Given the description of an element on the screen output the (x, y) to click on. 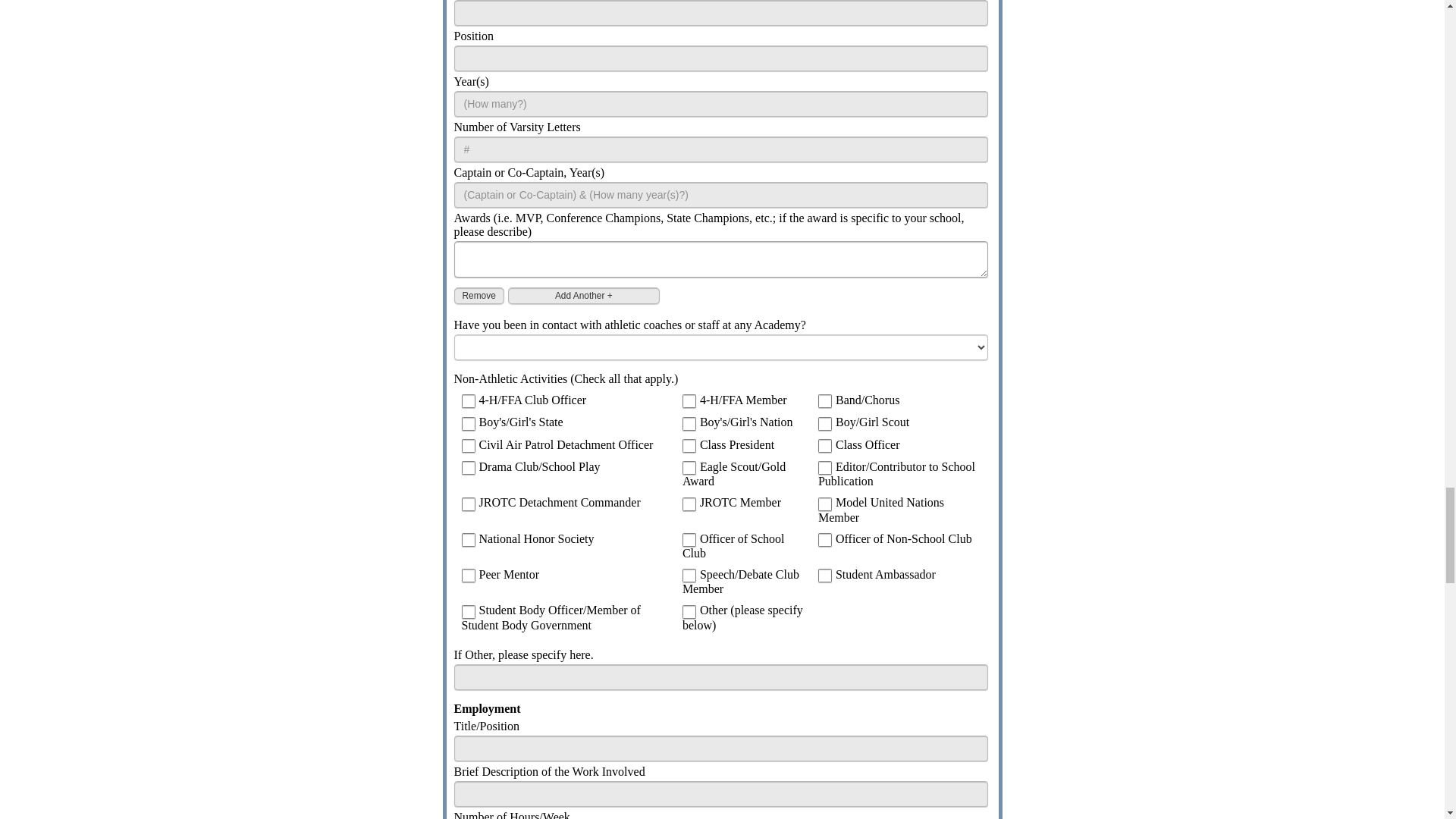
Remove (477, 295)
